Given the description of an element on the screen output the (x, y) to click on. 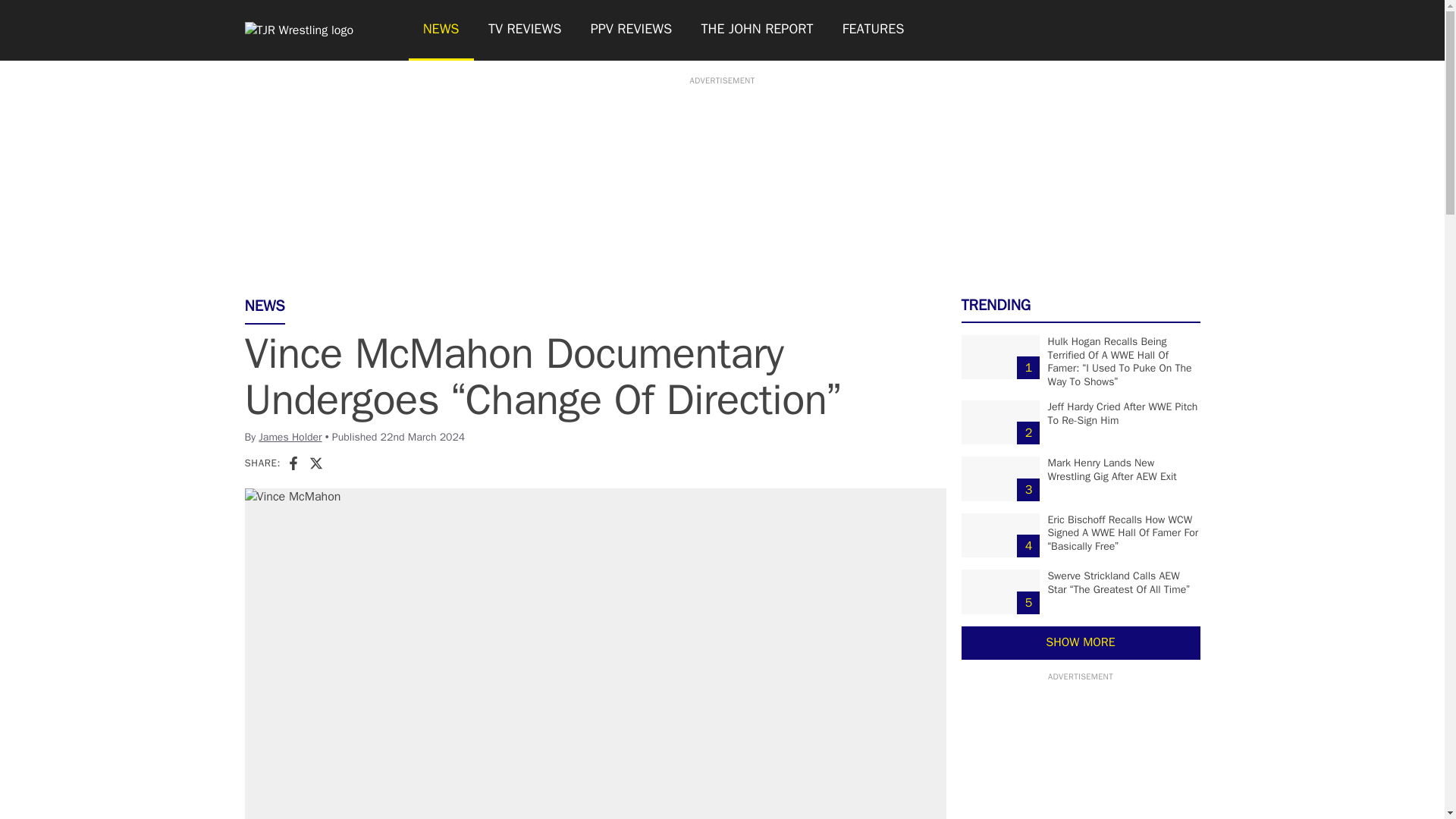
Facebook (292, 463)
NEWS (440, 30)
Facebook (292, 462)
THE JOHN REPORT (756, 30)
FEATURES (873, 30)
X (315, 462)
X (315, 463)
James Holder (290, 436)
PPV REVIEWS (631, 30)
TV REVIEWS (525, 30)
